Given the description of an element on the screen output the (x, y) to click on. 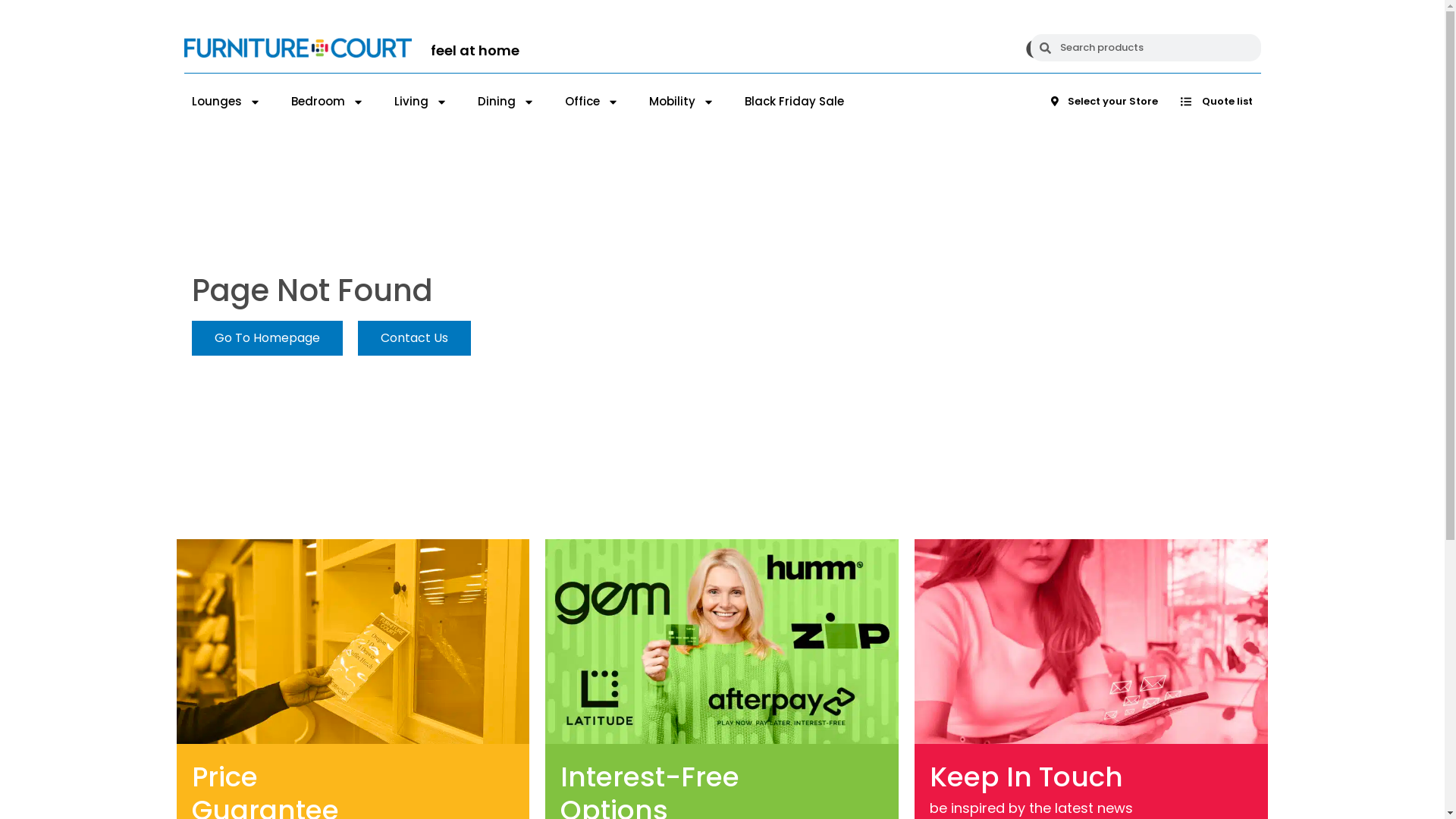
Living Element type: text (420, 101)
Contact Us Element type: text (413, 337)
Bedroom Element type: text (327, 101)
Quote list Element type: text (1216, 101)
Keep In Touch Element type: text (1037, 776)
Select your Store Element type: text (1104, 101)
Black Friday Sale Element type: text (794, 101)
Office Element type: text (591, 101)
Dining Element type: text (505, 101)
Lounges Element type: text (225, 101)
Go To Homepage Element type: text (266, 337)
Mobility Element type: text (681, 101)
